Given the description of an element on the screen output the (x, y) to click on. 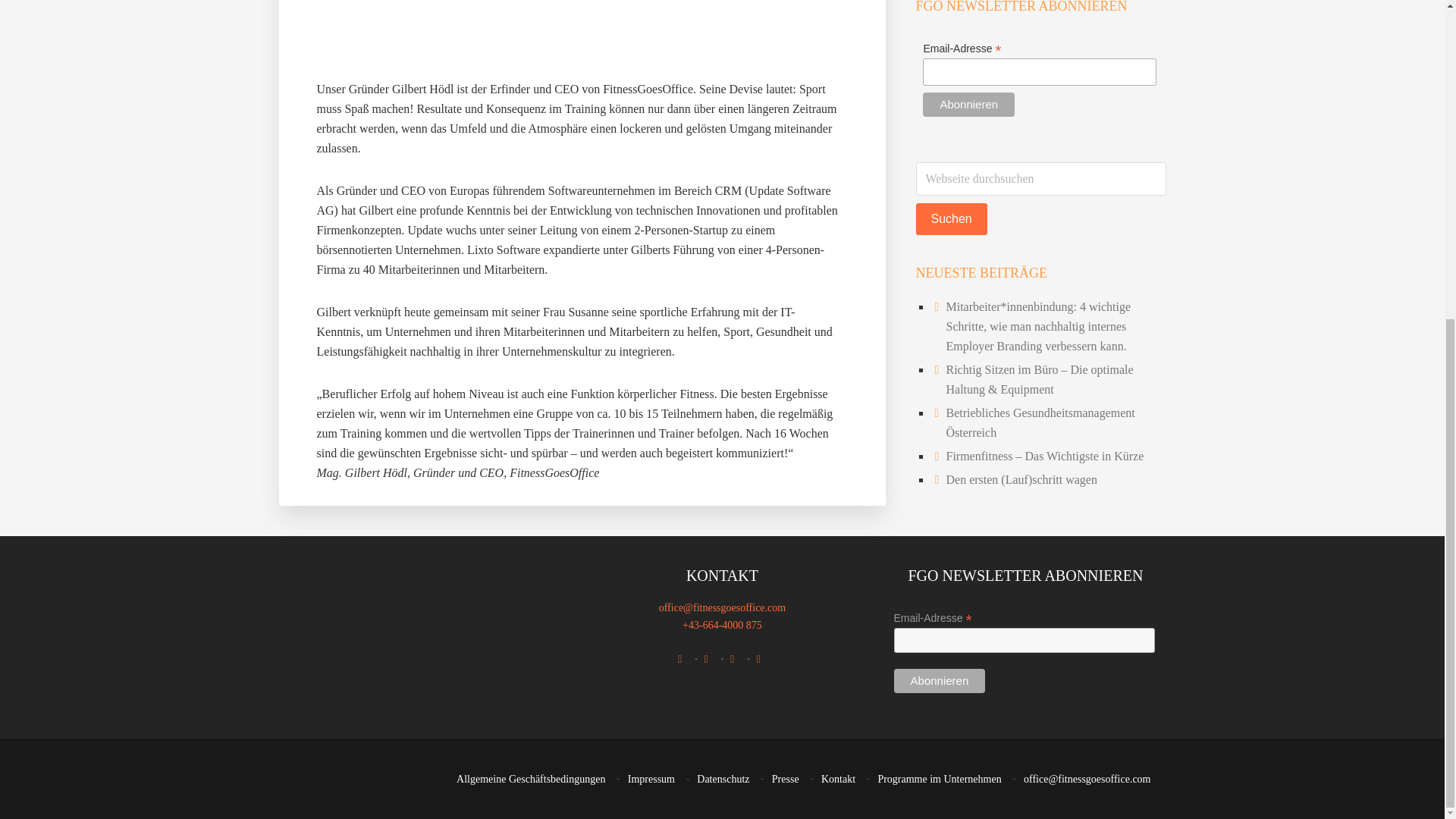
Presse (785, 778)
Abonnieren (939, 680)
Suchen (951, 219)
Abonnieren (968, 104)
Abonnieren (968, 104)
Suchen (951, 219)
Abonnieren (939, 680)
Impressum (651, 778)
Datenschutz (723, 778)
Suchen (951, 219)
